Given the description of an element on the screen output the (x, y) to click on. 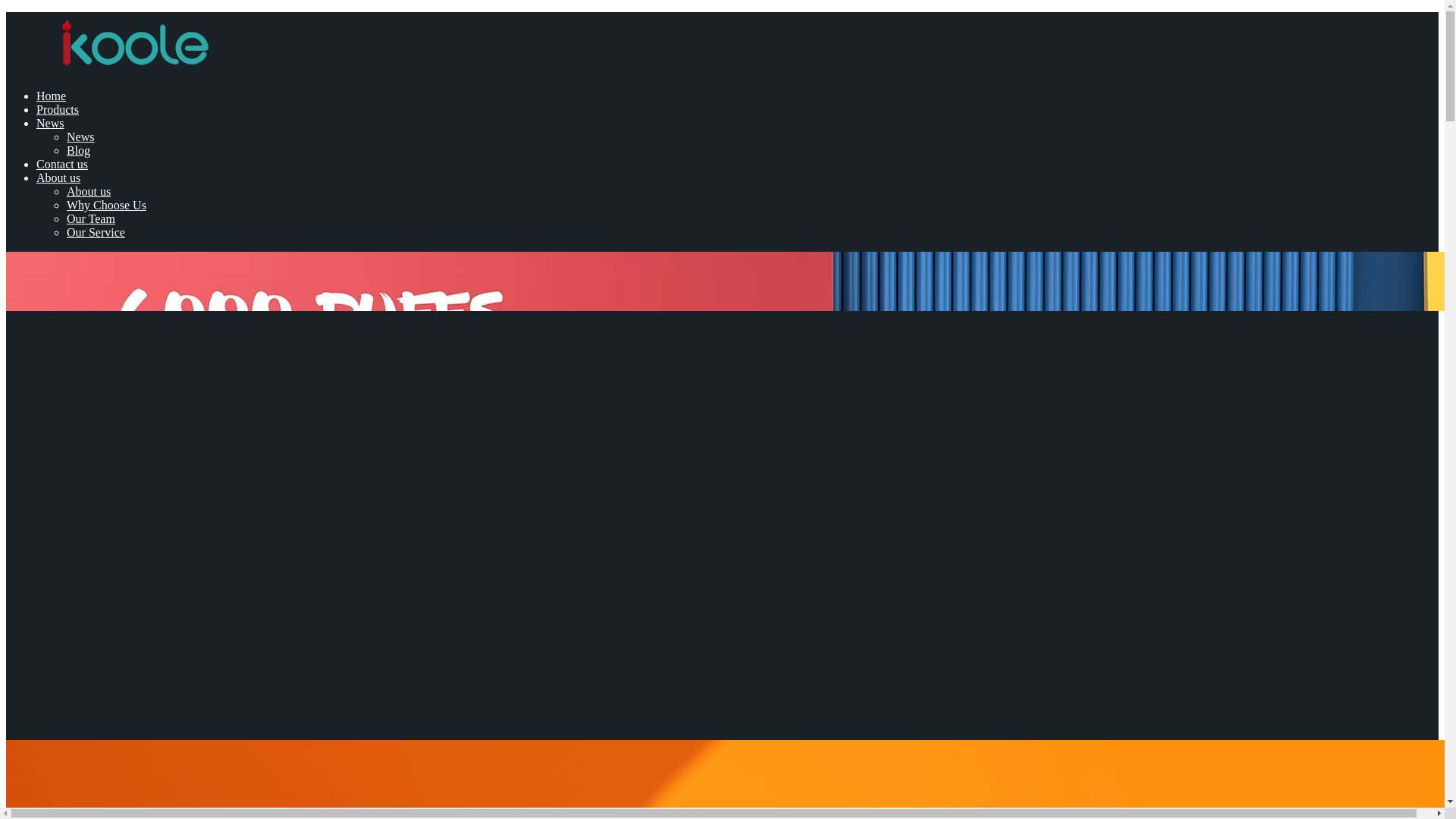
About us (88, 191)
News (80, 136)
Why Choose Us (106, 205)
Home (50, 95)
News (50, 123)
Contact us (61, 164)
Blog (78, 150)
About us (58, 177)
Products (57, 109)
Our Service (95, 232)
